Given the description of an element on the screen output the (x, y) to click on. 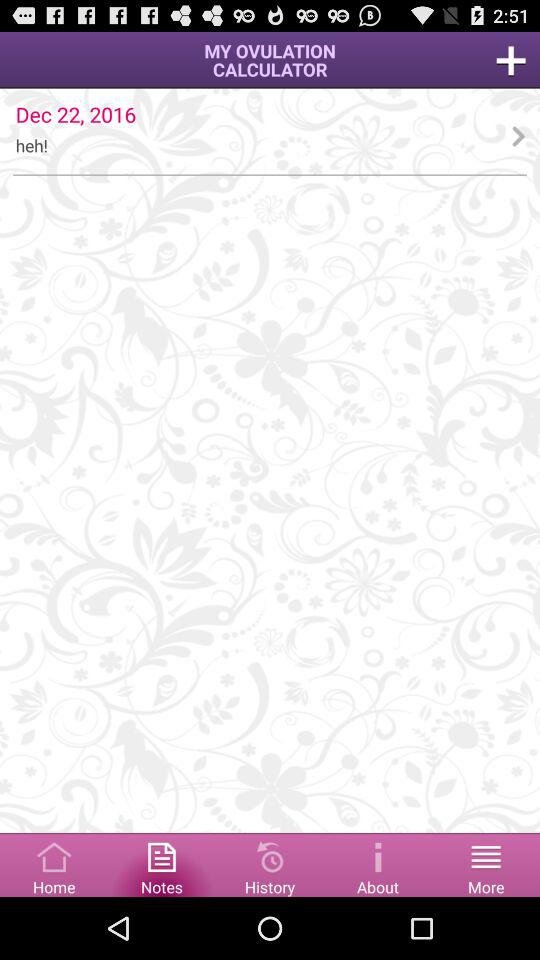
increment button (511, 60)
